Given the description of an element on the screen output the (x, y) to click on. 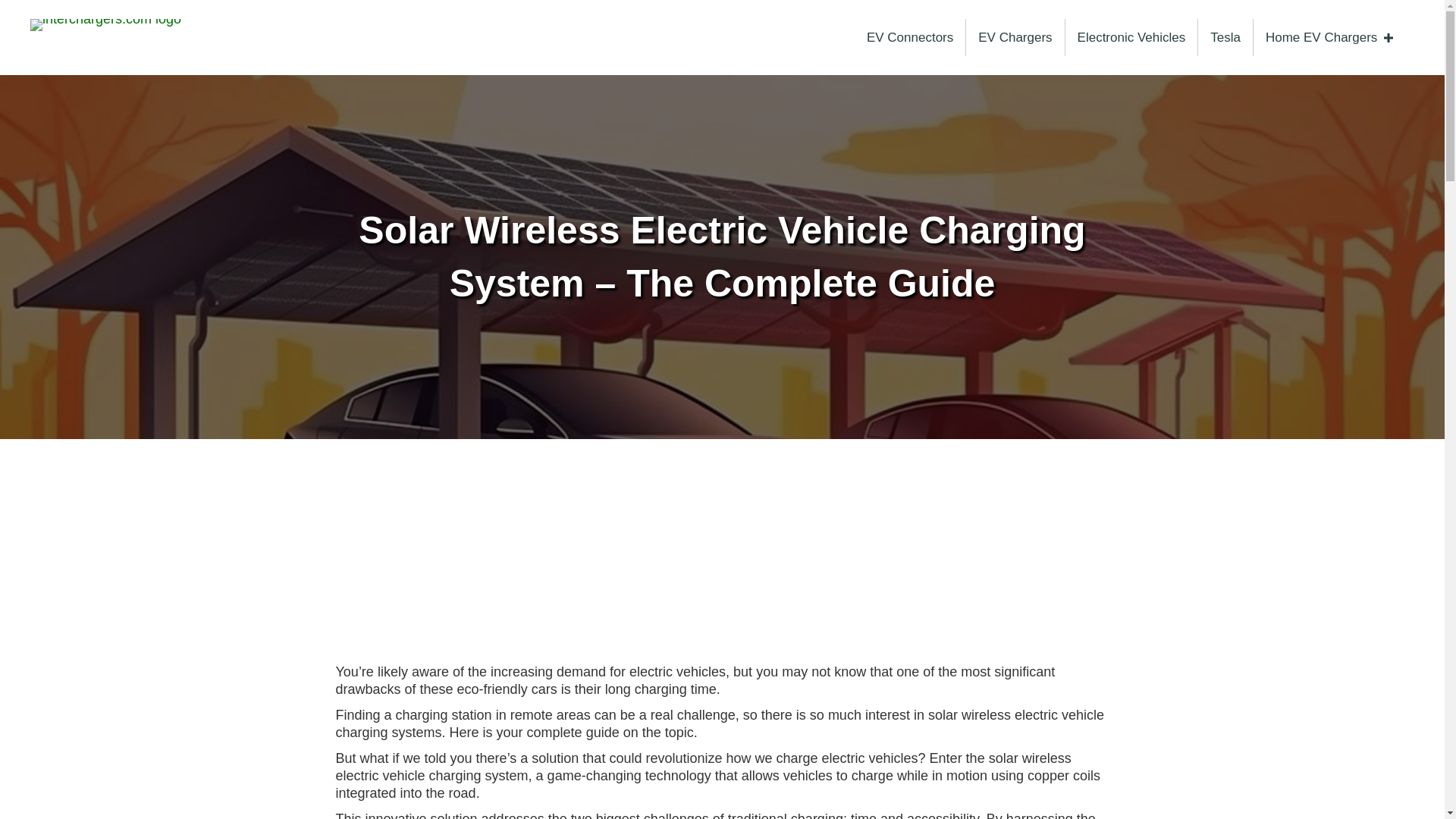
EV Connectors (909, 37)
EV Chargers (1015, 37)
interchargers.com logo (105, 24)
Home EV Chargers (1326, 37)
Electronic Vehicles (1131, 37)
Tesla (1225, 37)
